Given the description of an element on the screen output the (x, y) to click on. 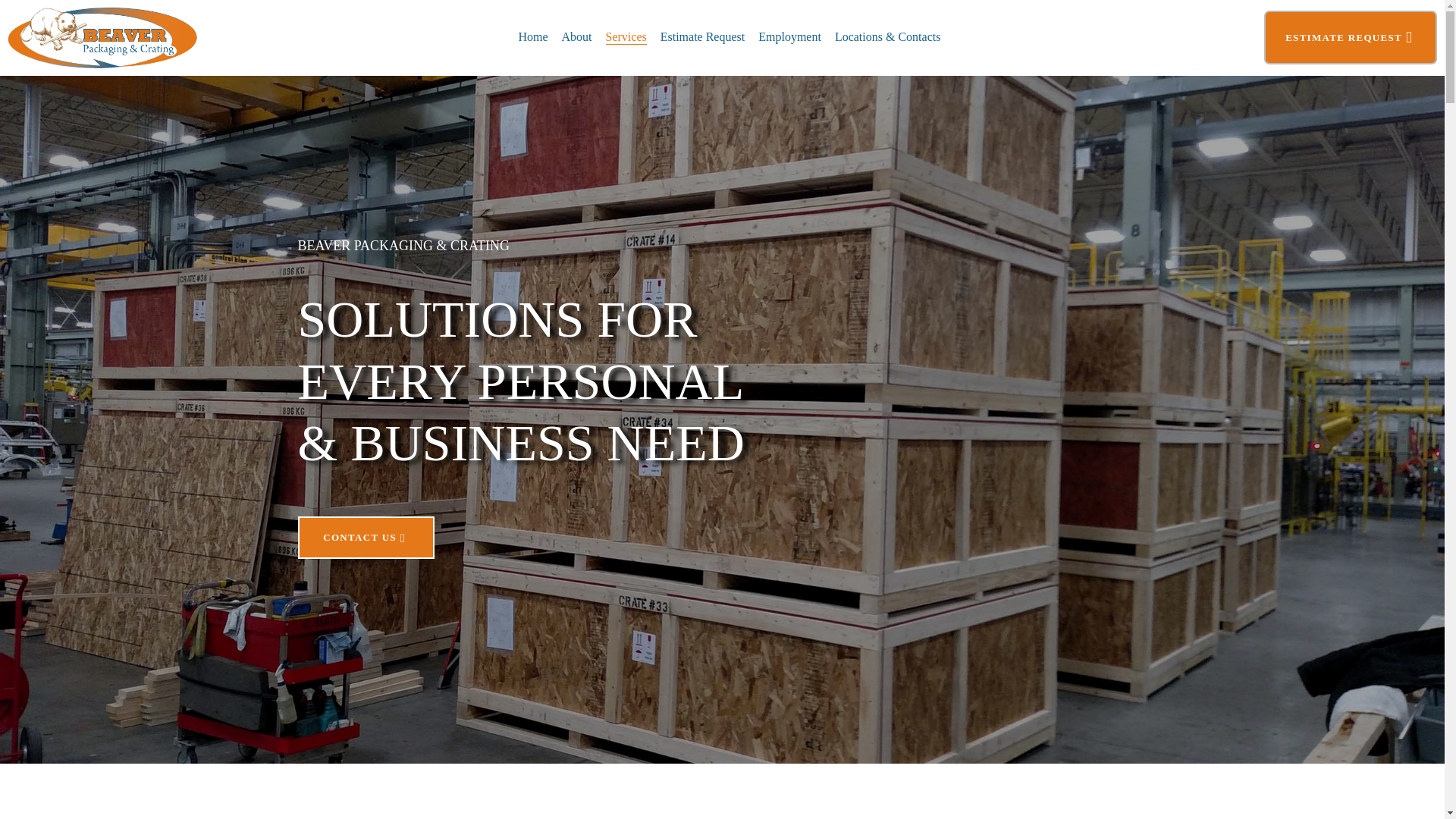
Employment (789, 37)
ESTIMATE REQUEST (1348, 37)
Services (625, 37)
Home (532, 37)
CONTACT US (365, 537)
Estimate Request (703, 37)
About (575, 37)
